Given the description of an element on the screen output the (x, y) to click on. 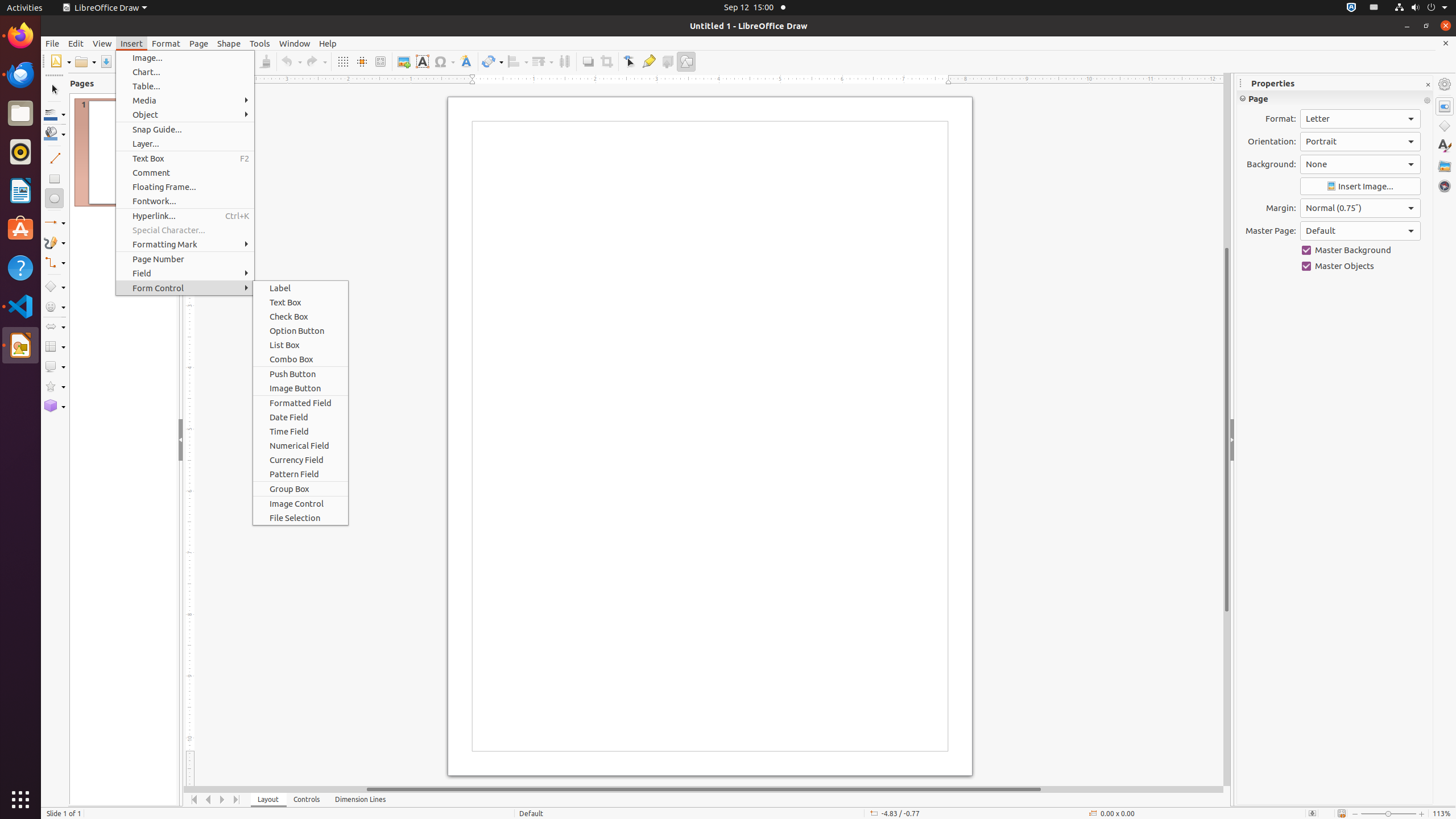
Page Number Element type: menu-item (185, 258)
Format: Element type: combo-box (1360, 118)
Thunderbird Mail Element type: push-button (20, 74)
Time Field Element type: check-menu-item (300, 431)
Move To End Element type: push-button (236, 799)
